Given the description of an element on the screen output the (x, y) to click on. 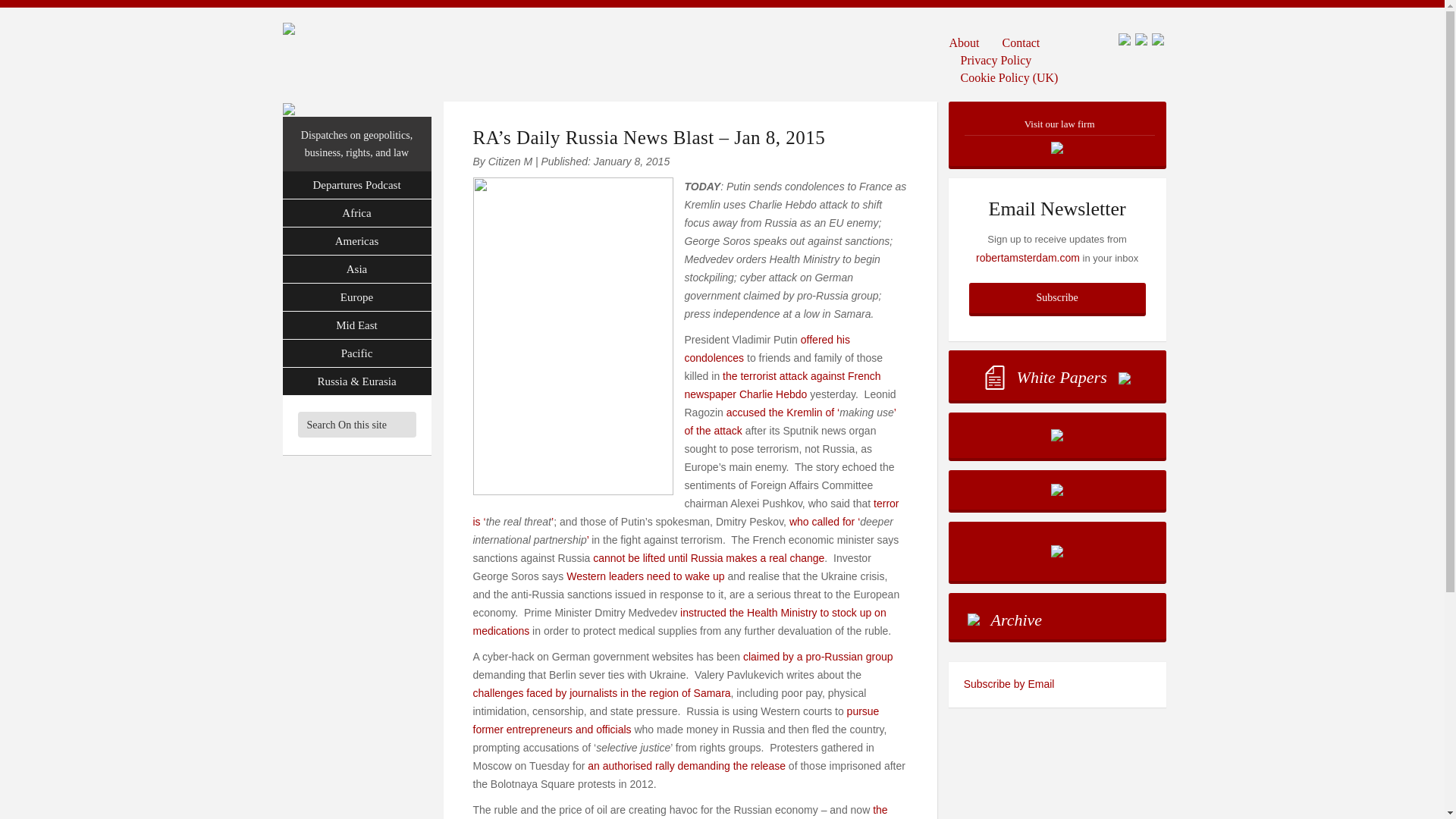
the terrorist attack against French newspaper Charlie Hebdo (782, 385)
Subscribe to the Robert Amsterdam feed by email (1057, 684)
instructed the Health Ministry to stock up on medications (679, 621)
offered his condolences (766, 348)
Subscribe (1057, 297)
an authorised rally demanding the release (687, 766)
cannot be lifted until Russia makes a real change (708, 558)
Pacific (356, 353)
challenges faced by journalists in the region of Samara (601, 693)
Americas (356, 241)
robertamsterdam.com (1027, 257)
Europe (356, 297)
the price of natural gas is following suit (680, 811)
Privacy Policy (996, 59)
Departures Podcast (356, 185)
